Given the description of an element on the screen output the (x, y) to click on. 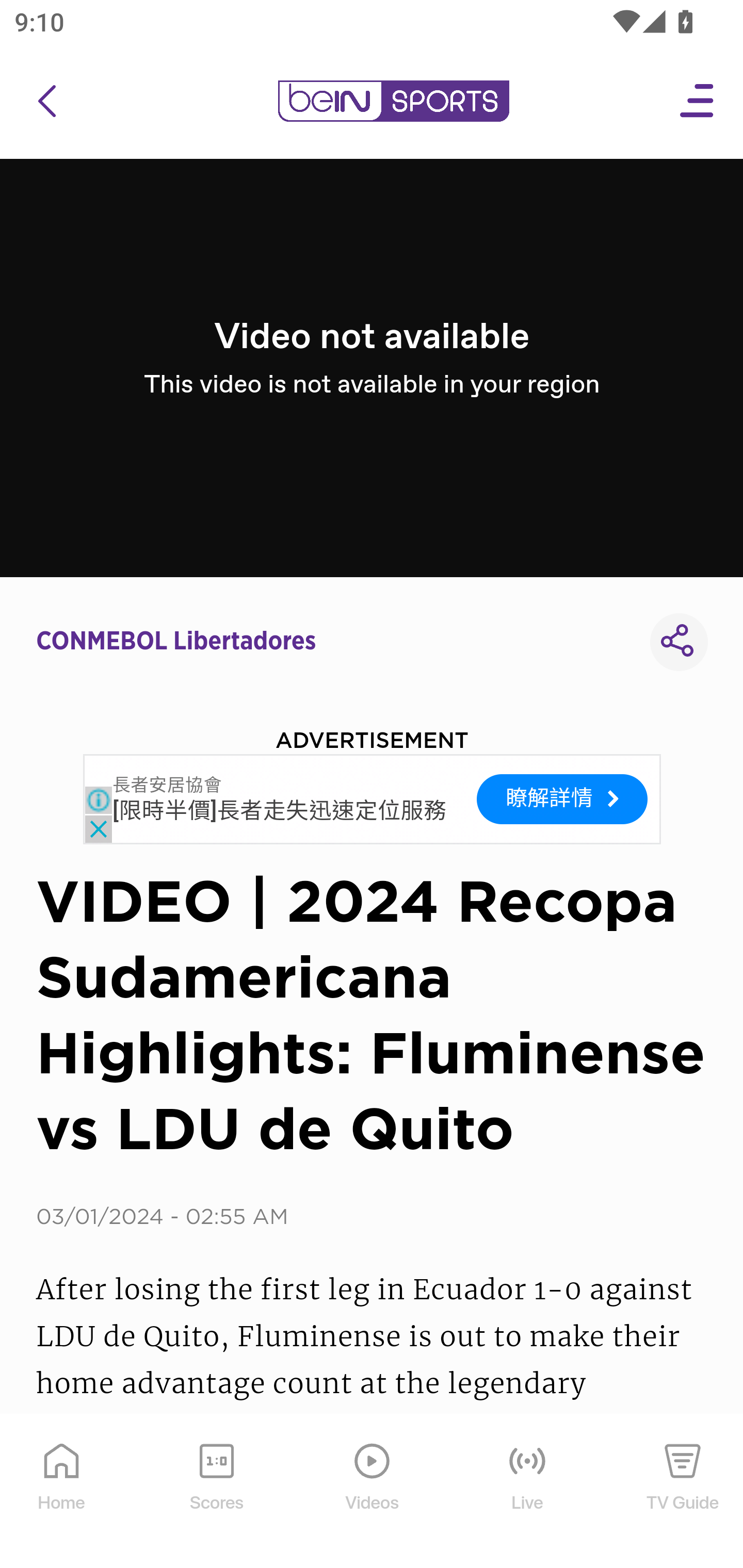
en-us?platform=mobile_android bein logo (392, 101)
icon back (46, 101)
Open Menu Icon (697, 101)
瞭解詳情 (562, 798)
長者安居協會 (167, 785)
[限時半價]長者走失迅速定位服務 (280, 810)
Home Home Icon Home (61, 1491)
Scores Scores Icon Scores (216, 1491)
Videos Videos Icon Videos (372, 1491)
TV Guide TV Guide Icon TV Guide (682, 1491)
